Given the description of an element on the screen output the (x, y) to click on. 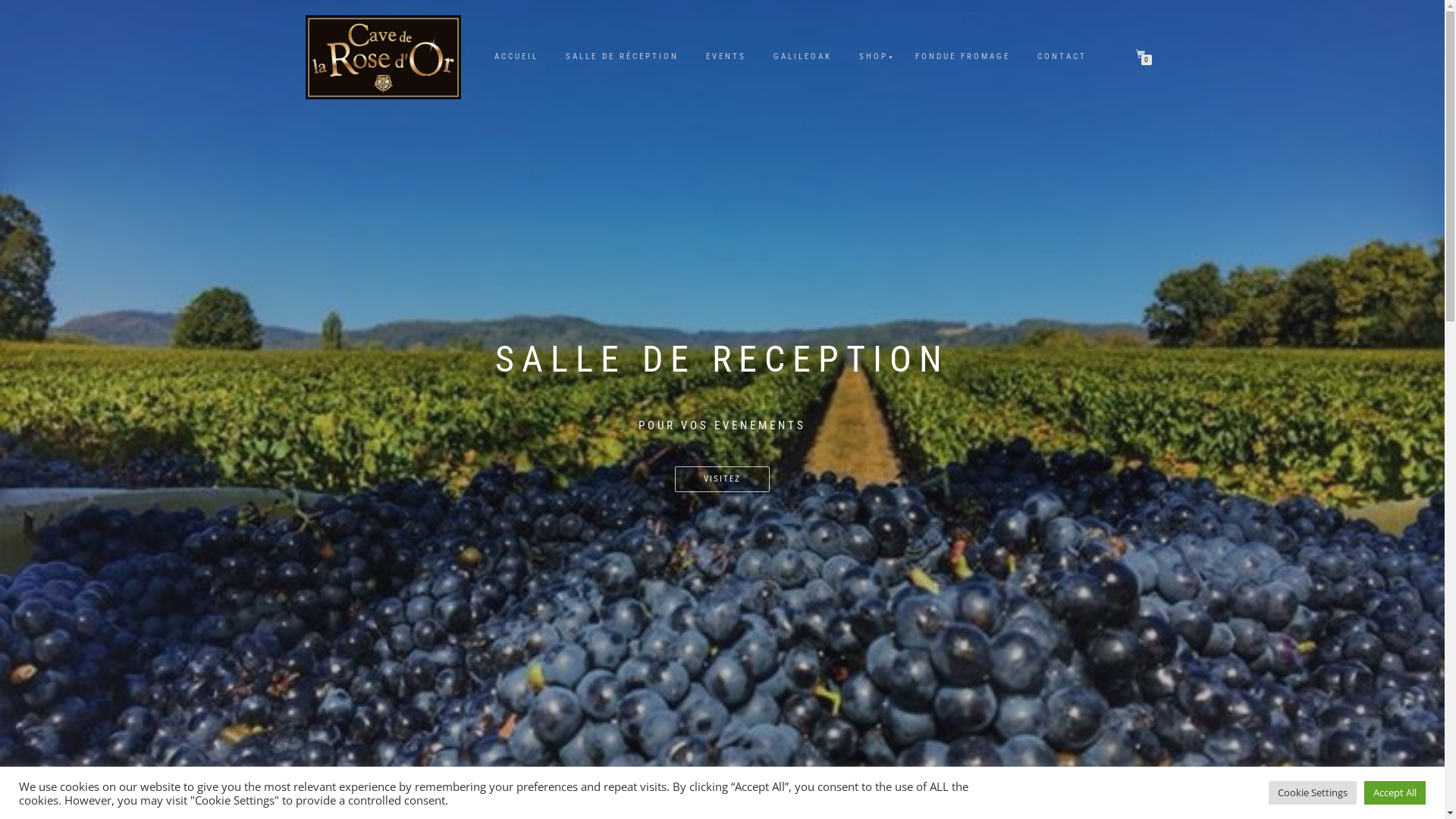
4 Element type: text (731, 787)
FONDUE FROMAGE Element type: text (962, 56)
Cookie Settings Element type: text (1312, 792)
SHOP Element type: text (873, 56)
2 Element type: text (713, 787)
ACCUEIL Element type: text (515, 56)
CONTACT Element type: text (1061, 56)
EVENTS Element type: text (725, 56)
0 Element type: text (1143, 54)
GALILEOAK Element type: text (801, 56)
Accept All Element type: text (1394, 792)
3 Element type: text (722, 787)
1 Element type: text (704, 787)
5 Element type: text (740, 787)
